Given the description of an element on the screen output the (x, y) to click on. 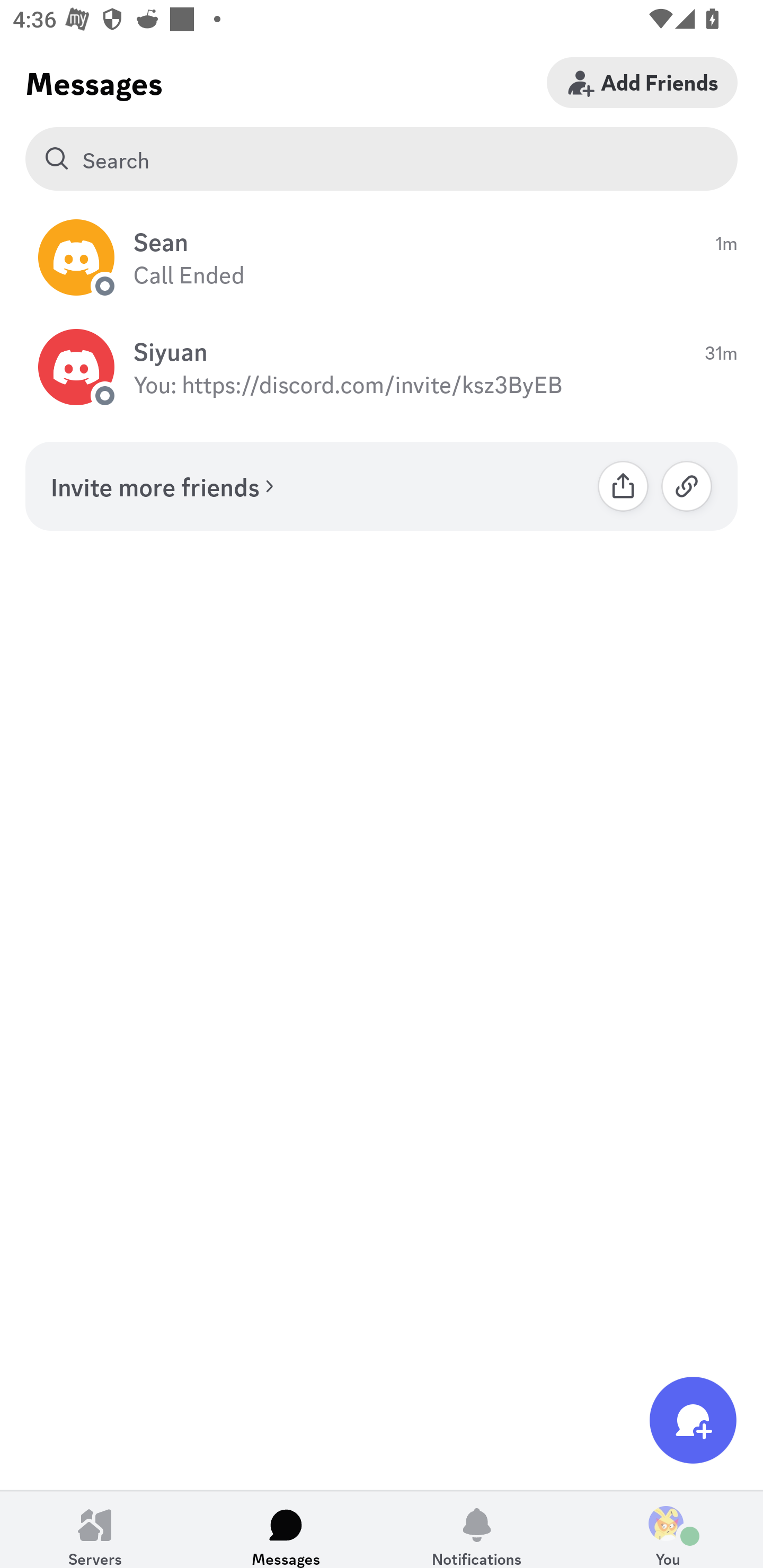
Add Friends (642, 82)
Search (381, 159)
Sean (direct message) Sean 1m Call Ended (381, 257)
Share Link (622, 485)
Copy Link (686, 485)
New Message (692, 1419)
Servers (95, 1529)
Messages (285, 1529)
Notifications (476, 1529)
You (667, 1529)
